Given the description of an element on the screen output the (x, y) to click on. 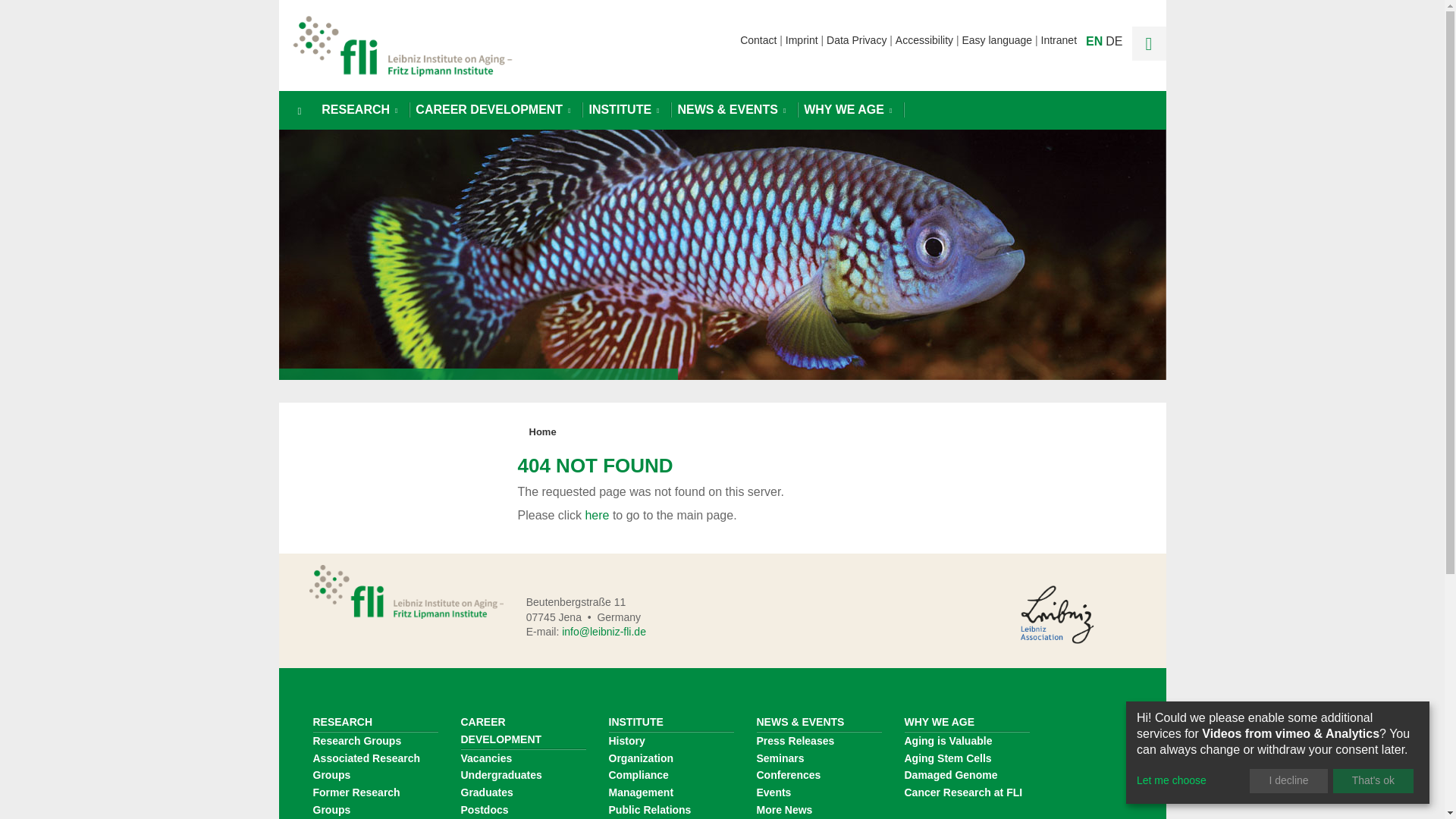
DE (1113, 41)
FLI - Leibniz Institute on Aging : Mainpage (401, 45)
Accessibility (928, 39)
Imprint (806, 39)
EN (1094, 41)
Research (359, 109)
Imprint (806, 39)
Accessibility (928, 39)
Contact (762, 39)
Contact (762, 39)
Easy language (1000, 39)
Intranet (1059, 39)
Easy language (1000, 39)
RESEARCH (359, 109)
Intranet (1059, 39)
